Given the description of an element on the screen output the (x, y) to click on. 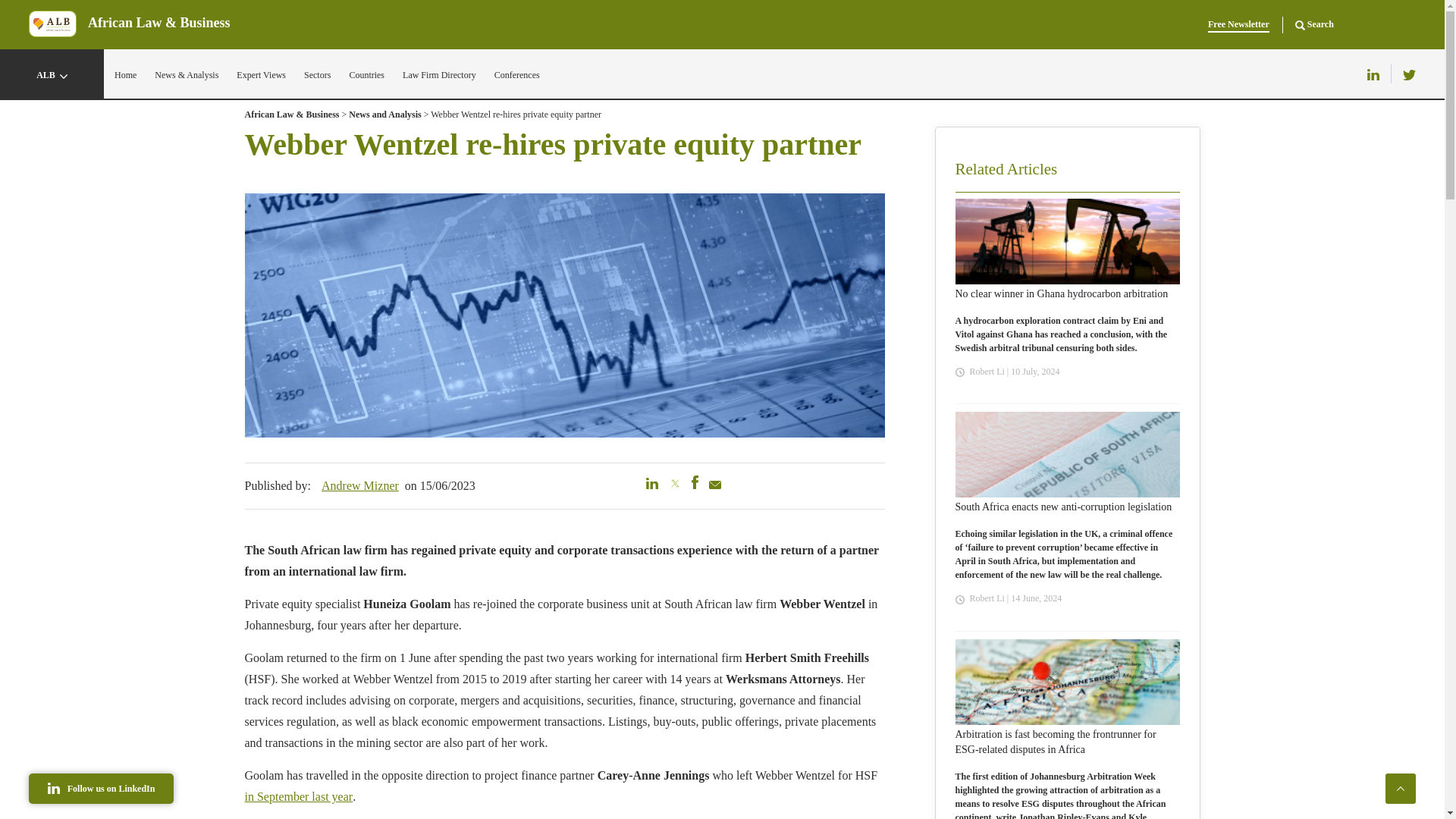
South Africa enacts new anti-corruption legislation (1063, 507)
Andrew Mizner (359, 485)
No clear winner in Ghana hydrocarbon arbitration (1062, 294)
Conferences (517, 74)
in September last year (298, 796)
News and Analysis (384, 117)
Free Newsletter (1238, 24)
Search (1314, 24)
Law Firm Directory (439, 74)
Expert Views (260, 74)
